Given the description of an element on the screen output the (x, y) to click on. 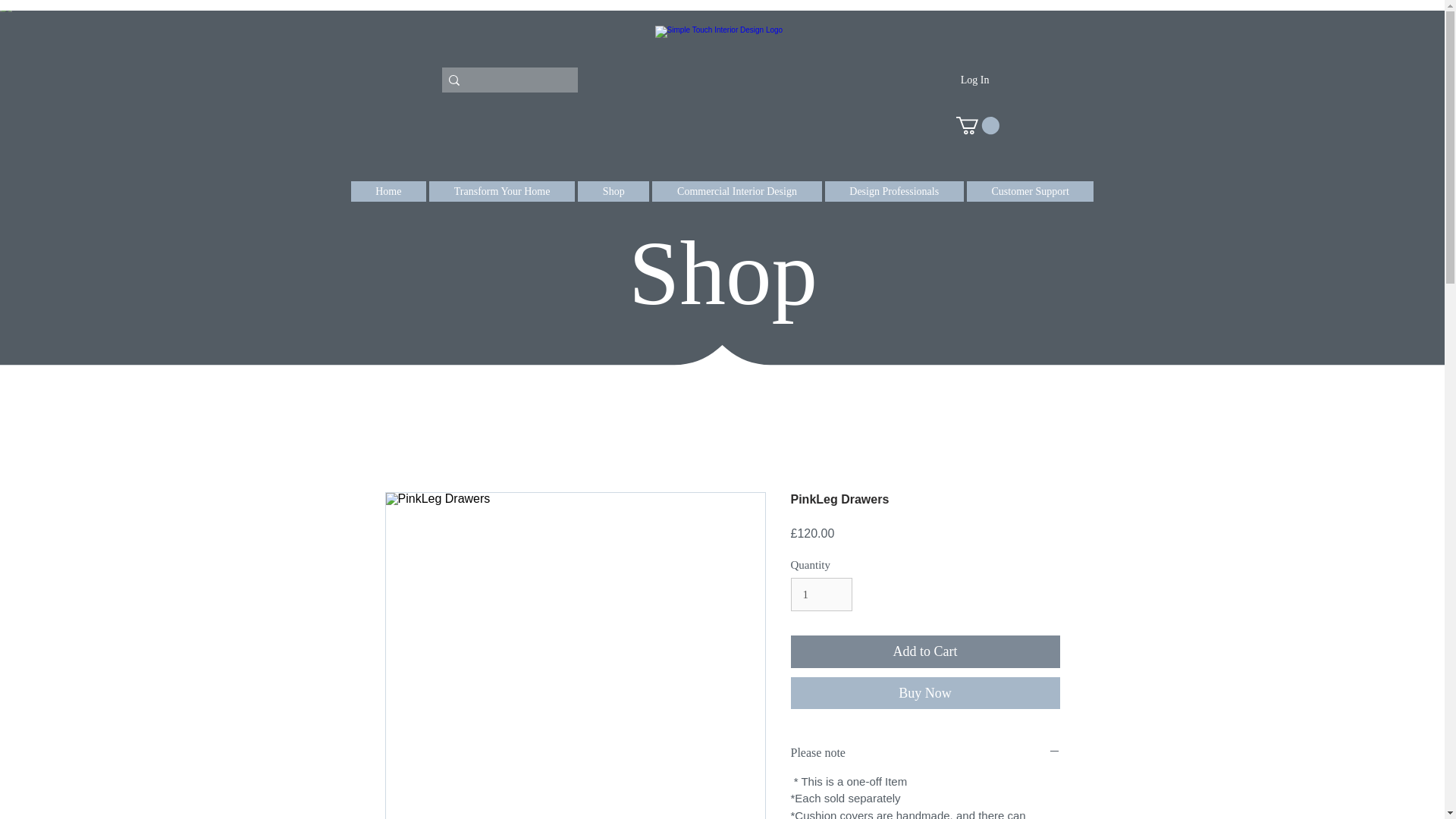
1 (820, 594)
Please note (924, 752)
Add to Cart (924, 651)
Design Professionals (894, 190)
Log In (975, 79)
Home (388, 190)
Buy Now (924, 693)
